Given the description of an element on the screen output the (x, y) to click on. 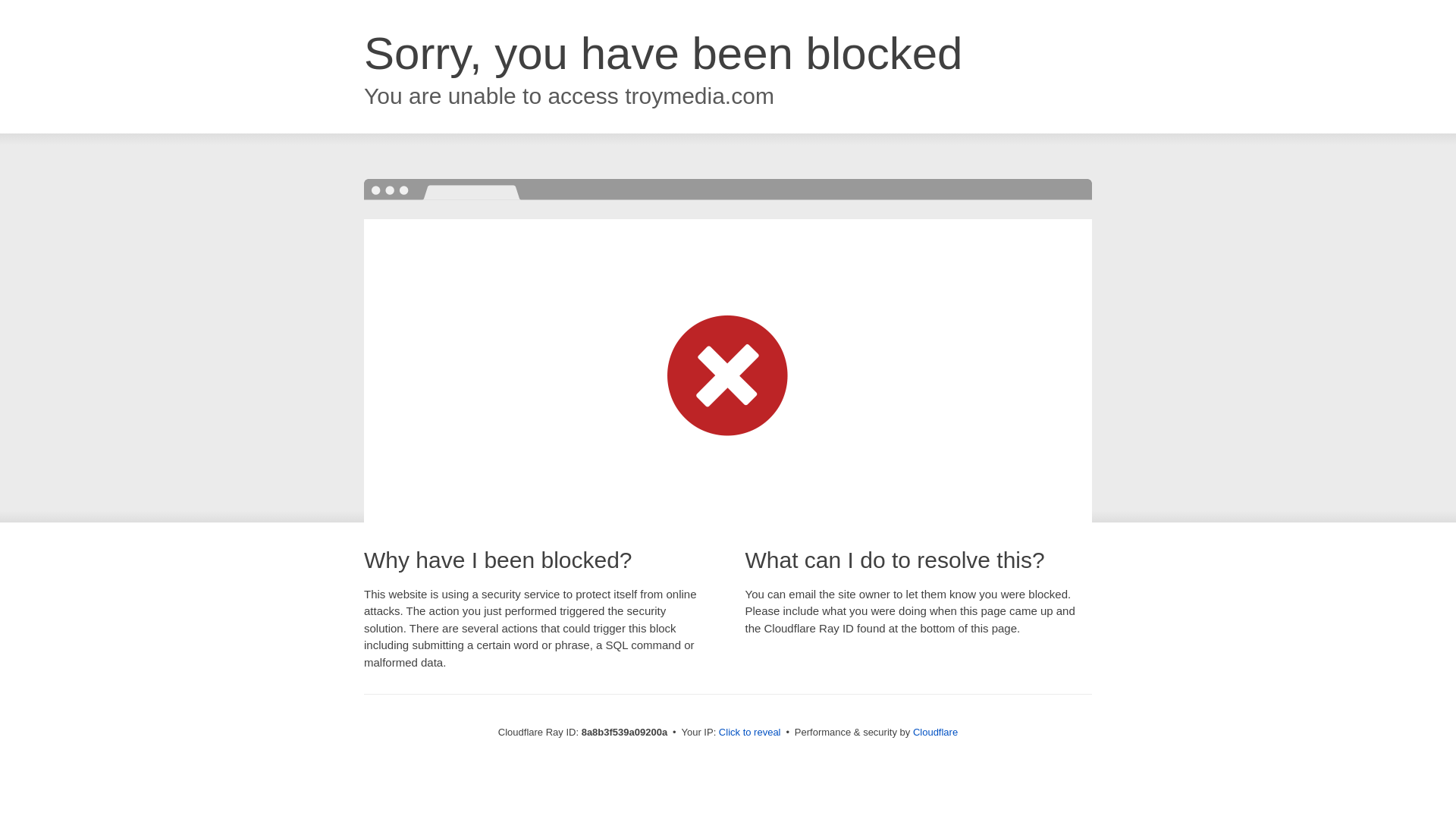
Cloudflare (935, 731)
Click to reveal (749, 732)
